Given the description of an element on the screen output the (x, y) to click on. 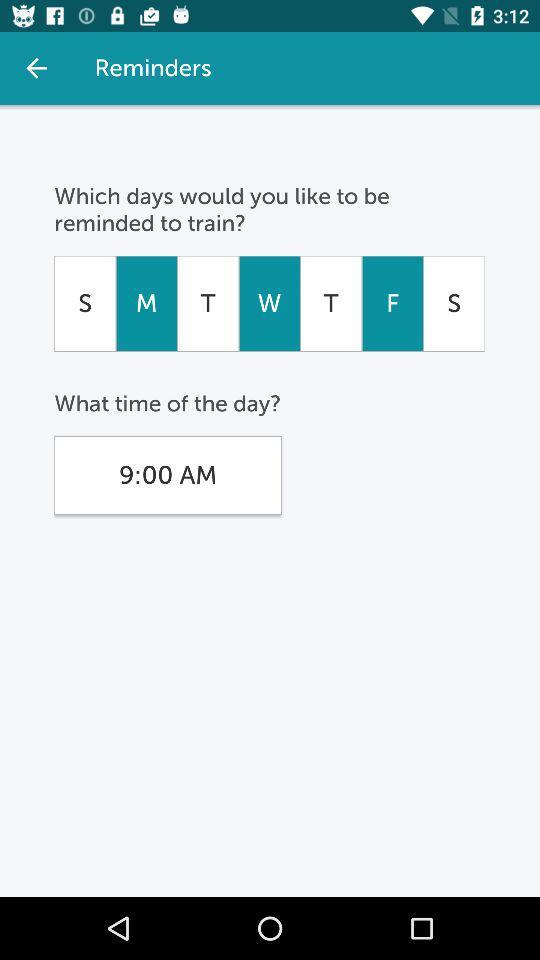
choose icon to the left of t icon (269, 303)
